Given the description of an element on the screen output the (x, y) to click on. 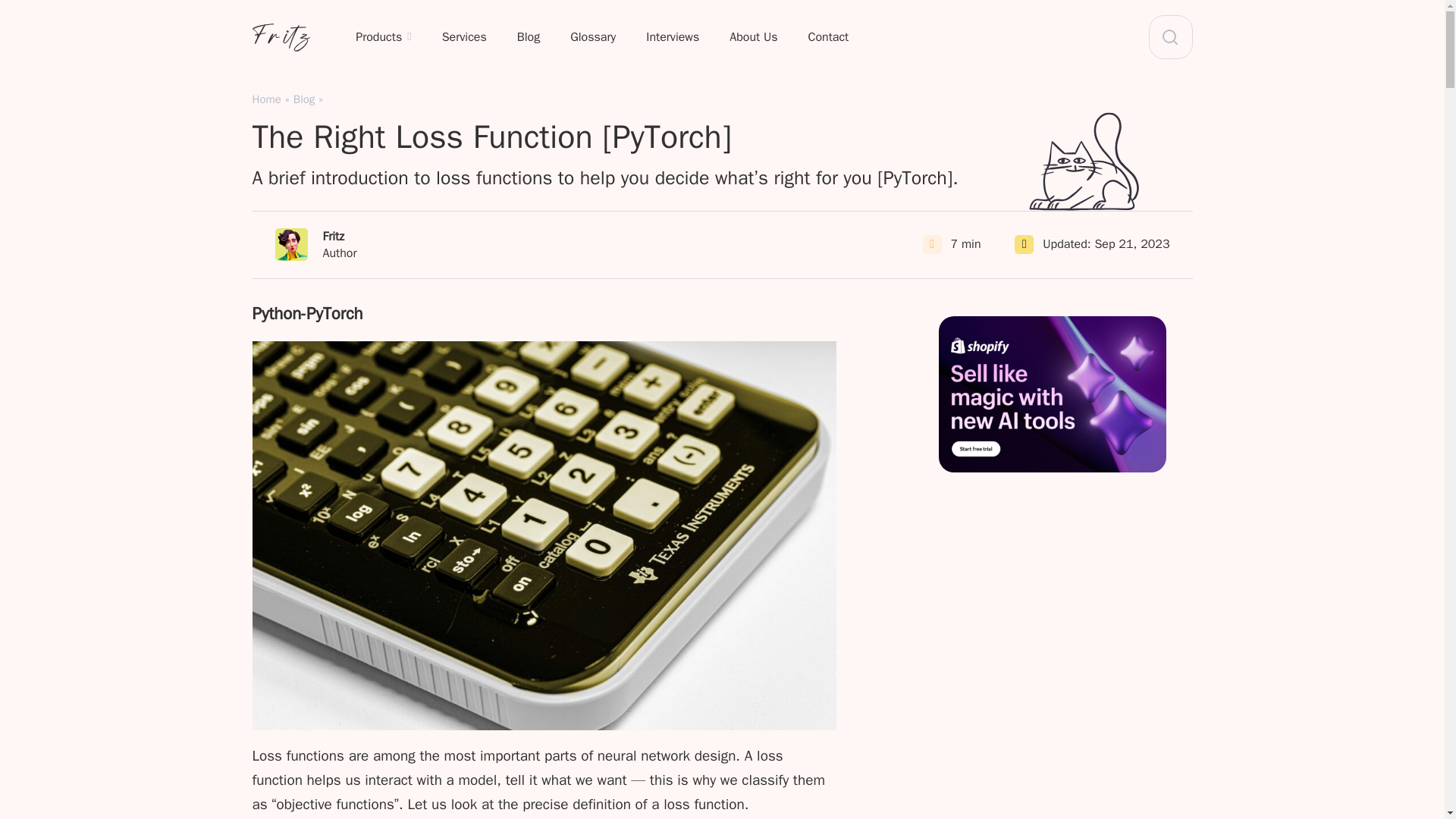
Blog (304, 99)
Search for: (1170, 36)
Interviews (672, 37)
Glossary (315, 244)
Home (592, 37)
Blog (266, 99)
Products (528, 37)
Sep 21, 2023 (383, 37)
7 min (1131, 244)
About Us (965, 244)
Services (753, 37)
Fritz ai (464, 37)
Contact (284, 39)
